Given the description of an element on the screen output the (x, y) to click on. 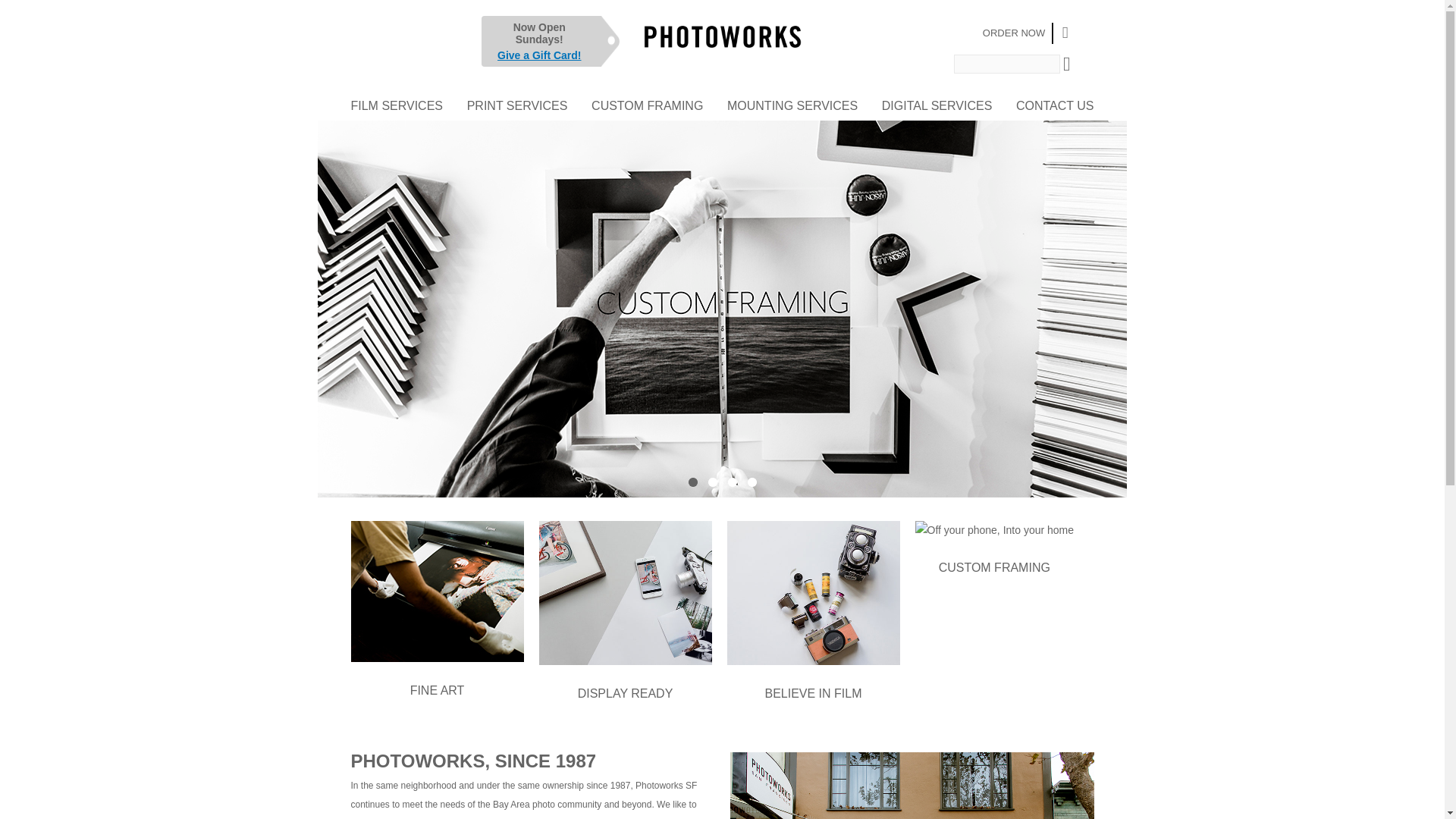
2 (712, 481)
Give a Gift Card! (538, 55)
4 (752, 481)
CUSTOM FRAMING (994, 567)
DISPLAY READY (624, 693)
Home (721, 48)
CUSTOM FRAMING (647, 105)
1 (692, 481)
Enter the terms you wish to search for. (1006, 63)
